Given the description of an element on the screen output the (x, y) to click on. 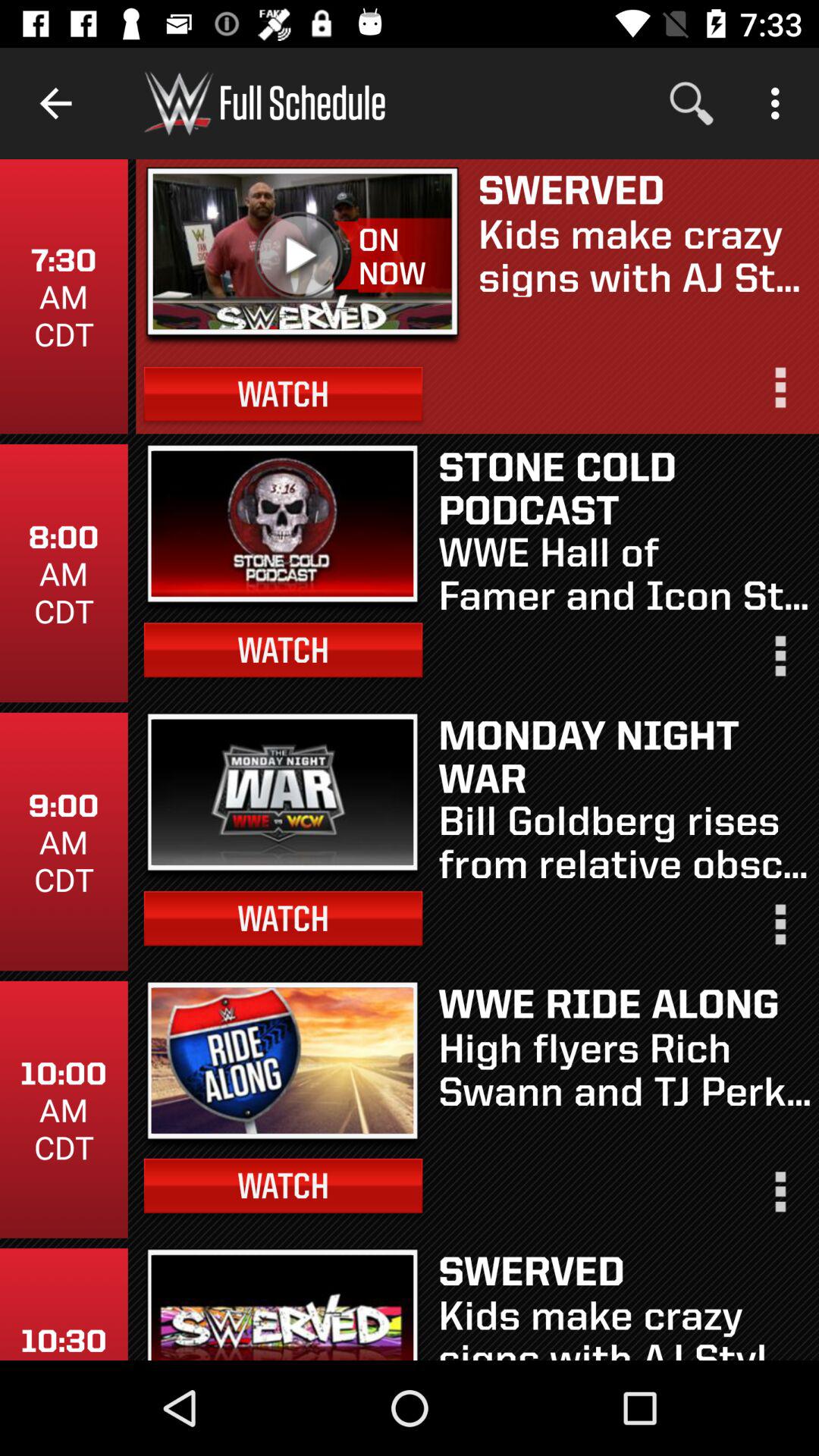
open icon below stone cold podcast (624, 571)
